Given the description of an element on the screen output the (x, y) to click on. 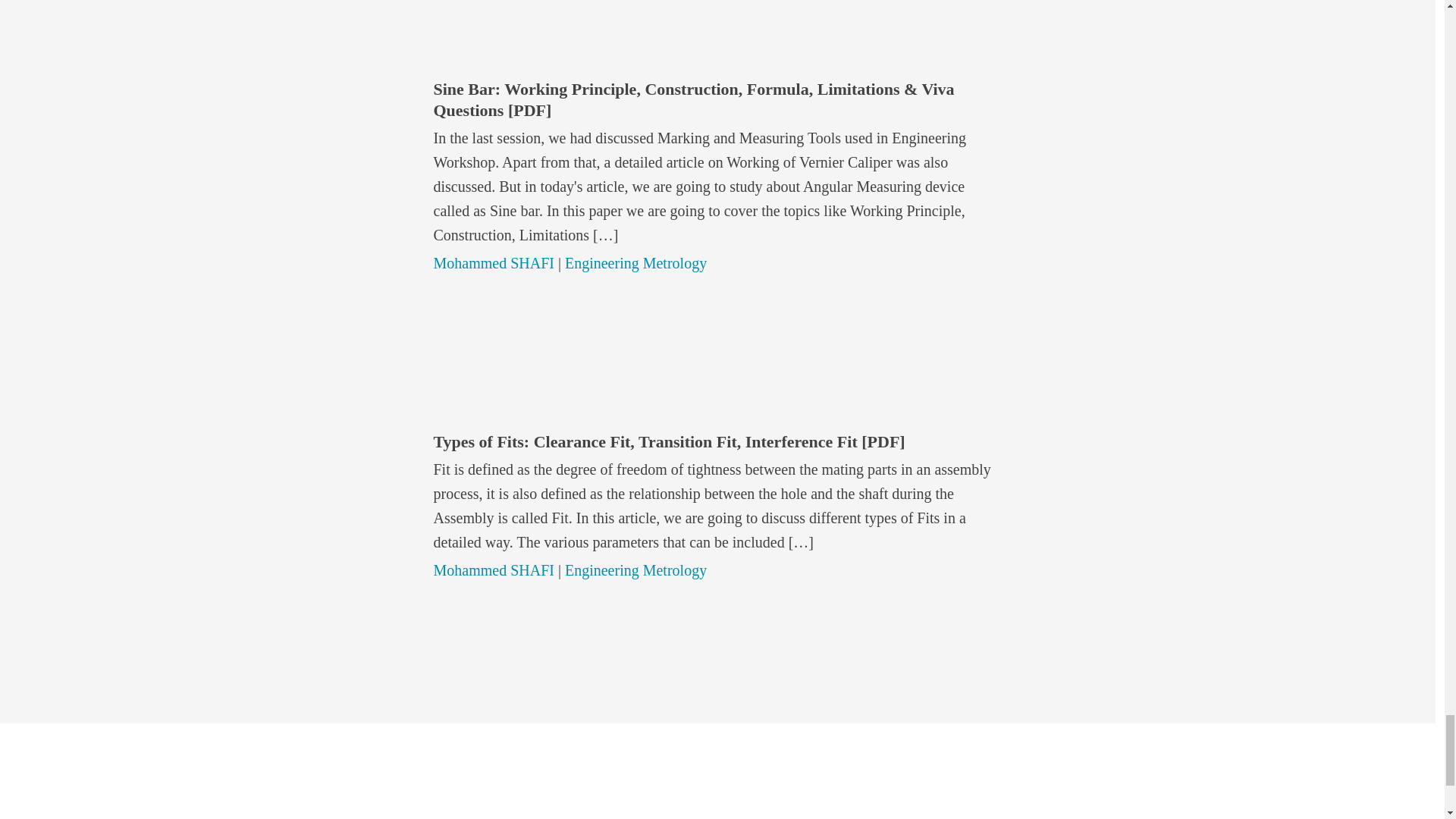
Mohammed SHAFI (493, 569)
Engineering Metrology (635, 262)
Mohammed SHAFI (493, 262)
